Given the description of an element on the screen output the (x, y) to click on. 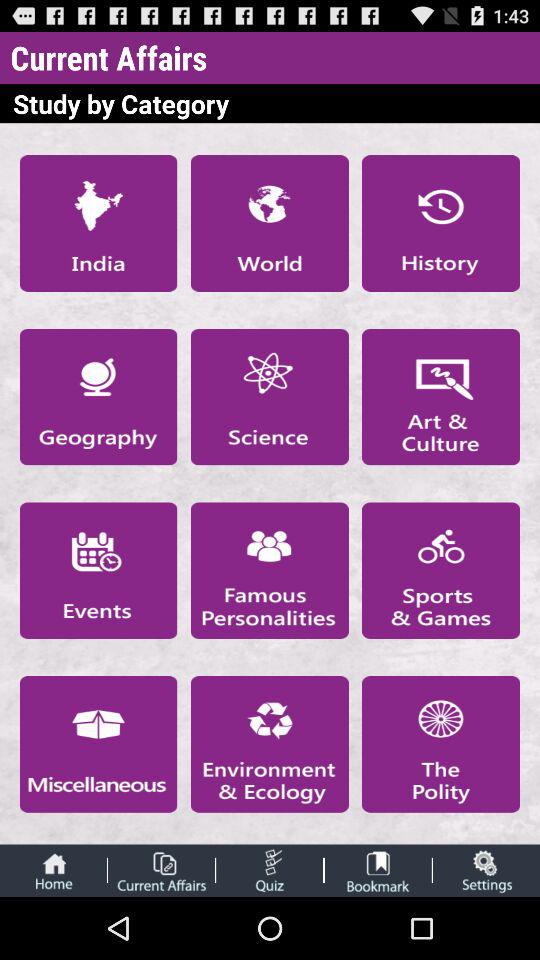
open settings (486, 870)
